Given the description of an element on the screen output the (x, y) to click on. 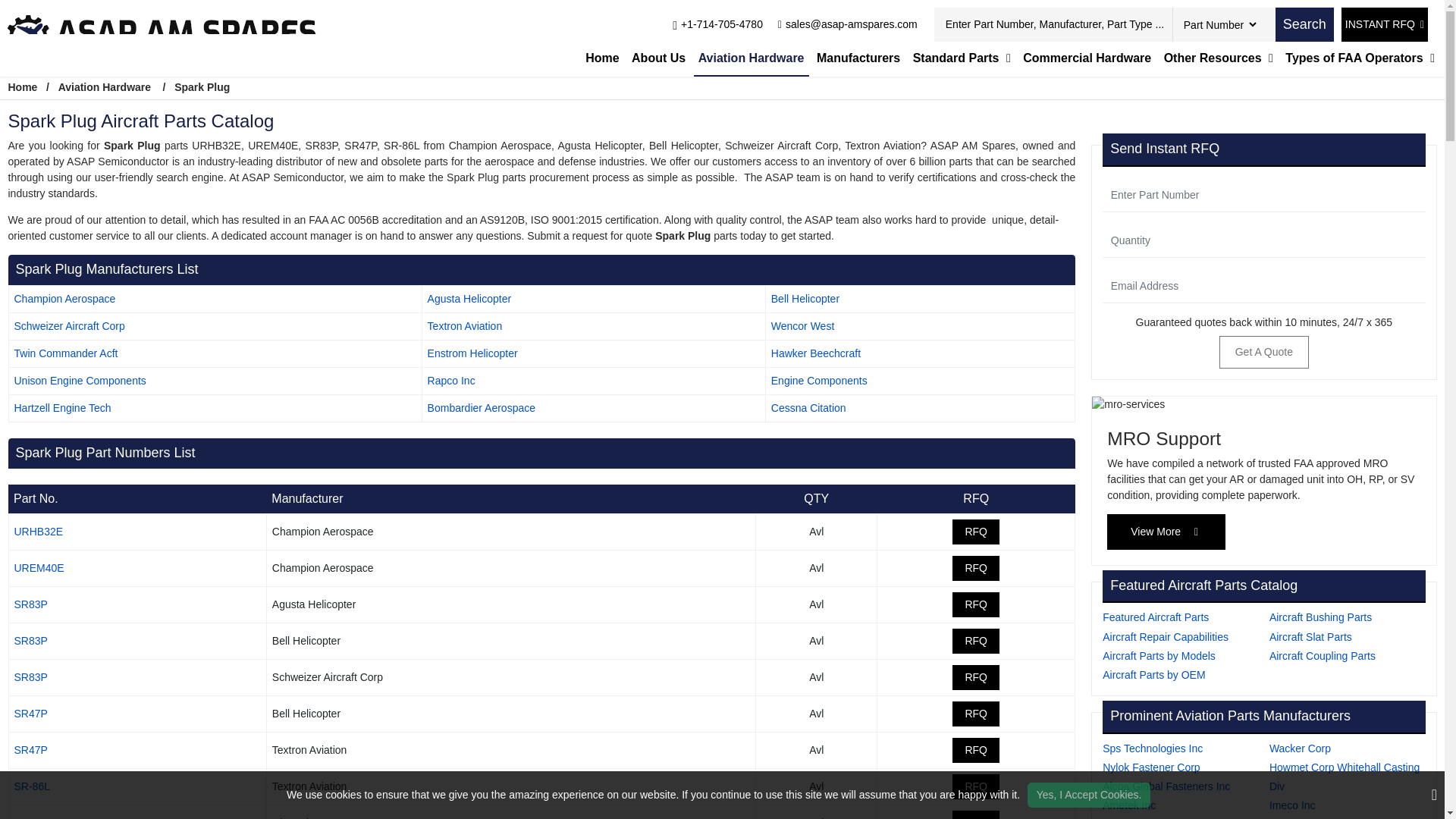
About Us (658, 58)
Standard Parts (961, 58)
Schweizer Aircraft Corp (68, 326)
Aviation Hardware (751, 58)
Manufacturers (858, 58)
Champion Aerospace (64, 298)
Commercial Hardware (1086, 58)
Other Resources (1218, 58)
Aviation Hardware (104, 87)
Textron Aviation (465, 326)
